Given the description of an element on the screen output the (x, y) to click on. 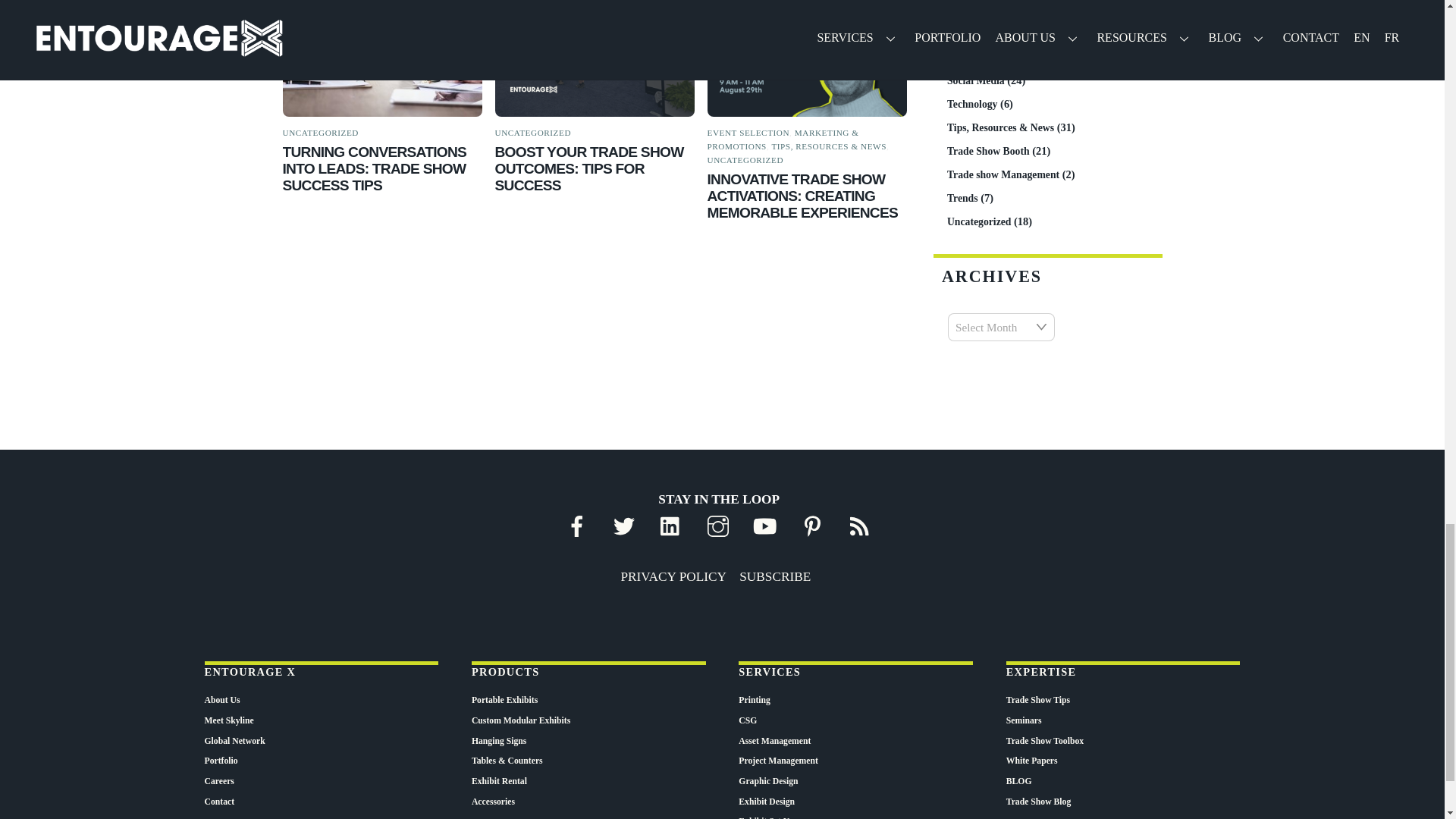
UNCATEGORIZED (533, 132)
Innovative Trade Show Activations - seminar (807, 58)
BOOST YOUR TRADE SHOW OUTCOMES: TIPS FOR SUCCESS (589, 168)
UNCATEGORIZED (320, 132)
Boost Your Trade Show Outcomes Tips for Success (595, 58)
TURNING CONVERSATIONS INTO LEADS: TRADE SHOW SUCCESS TIPS (373, 168)
Turning Conversations into Leads: Trade Show Success Tips (381, 58)
